Given the description of an element on the screen output the (x, y) to click on. 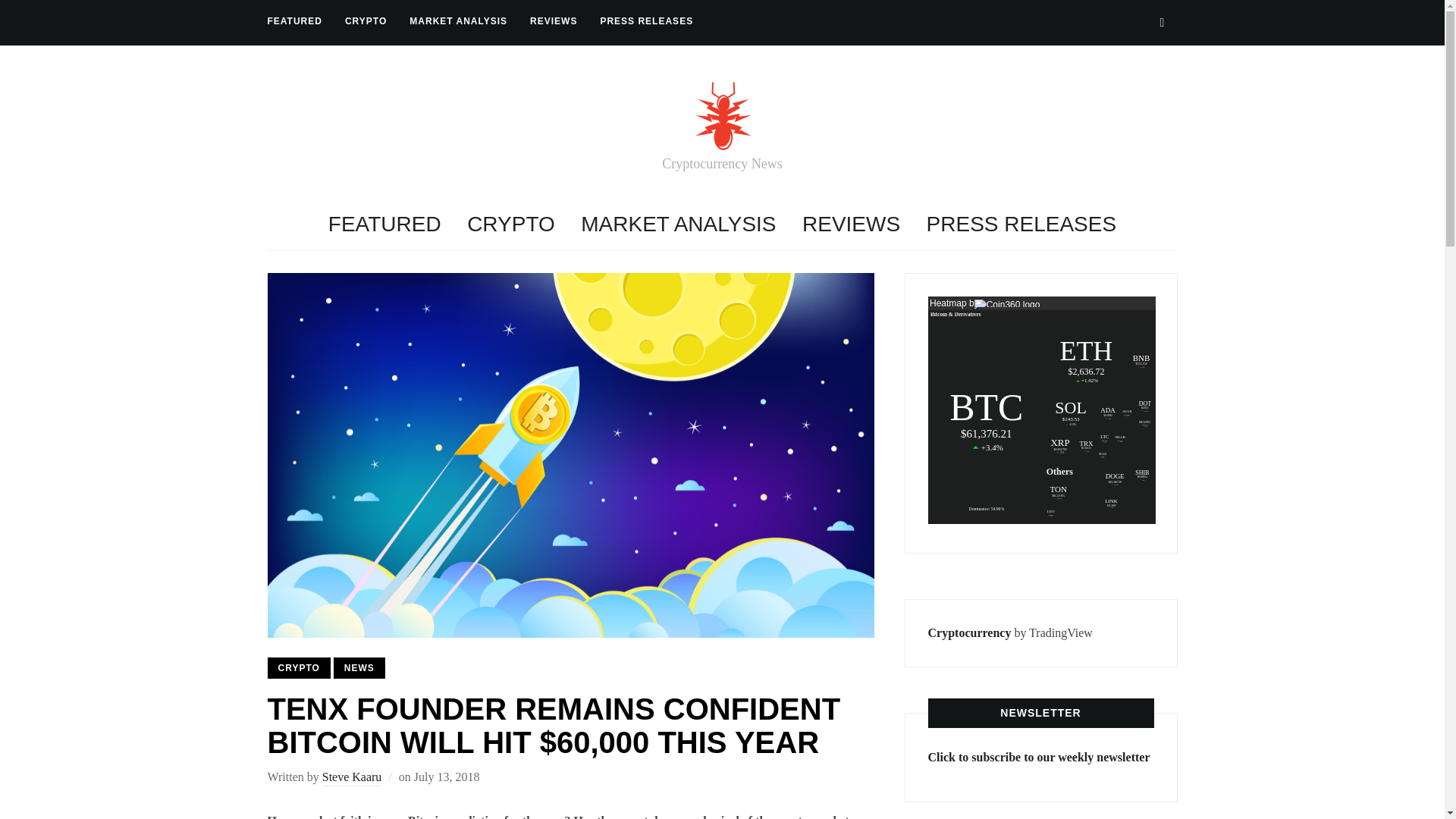
PRESS RELEASES (1021, 224)
MARKET ANALYSIS (457, 21)
FEATURED (293, 21)
Cryptocurrency (969, 632)
Steve Kaaru (351, 778)
CRYPTO (366, 21)
PRESS RELEASES (646, 21)
REVIEWS (850, 224)
Search (1161, 22)
Posts by Steve Kaaru (351, 778)
